Given the description of an element on the screen output the (x, y) to click on. 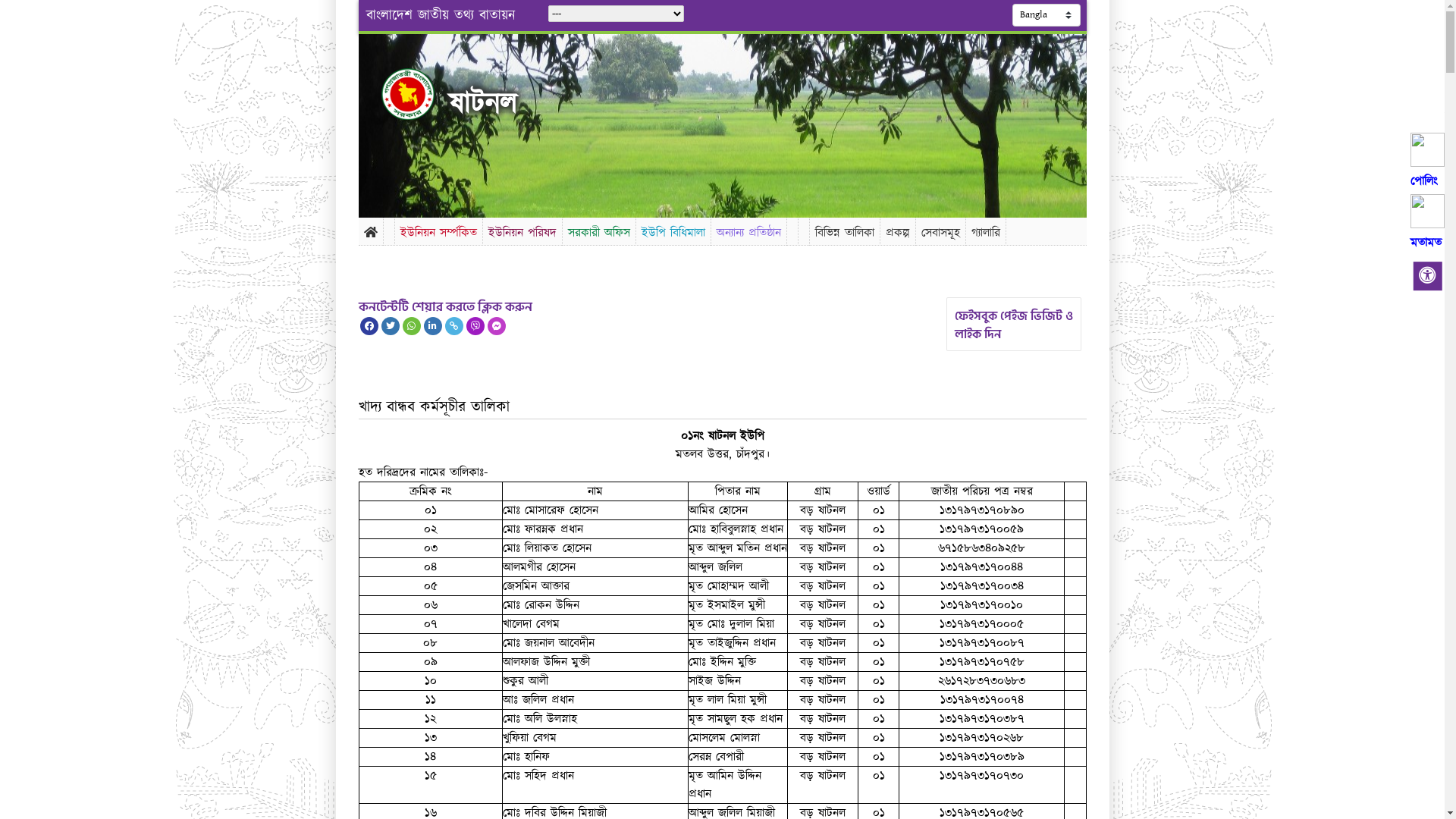

                
             Element type: hover (420, 93)
